Given the description of an element on the screen output the (x, y) to click on. 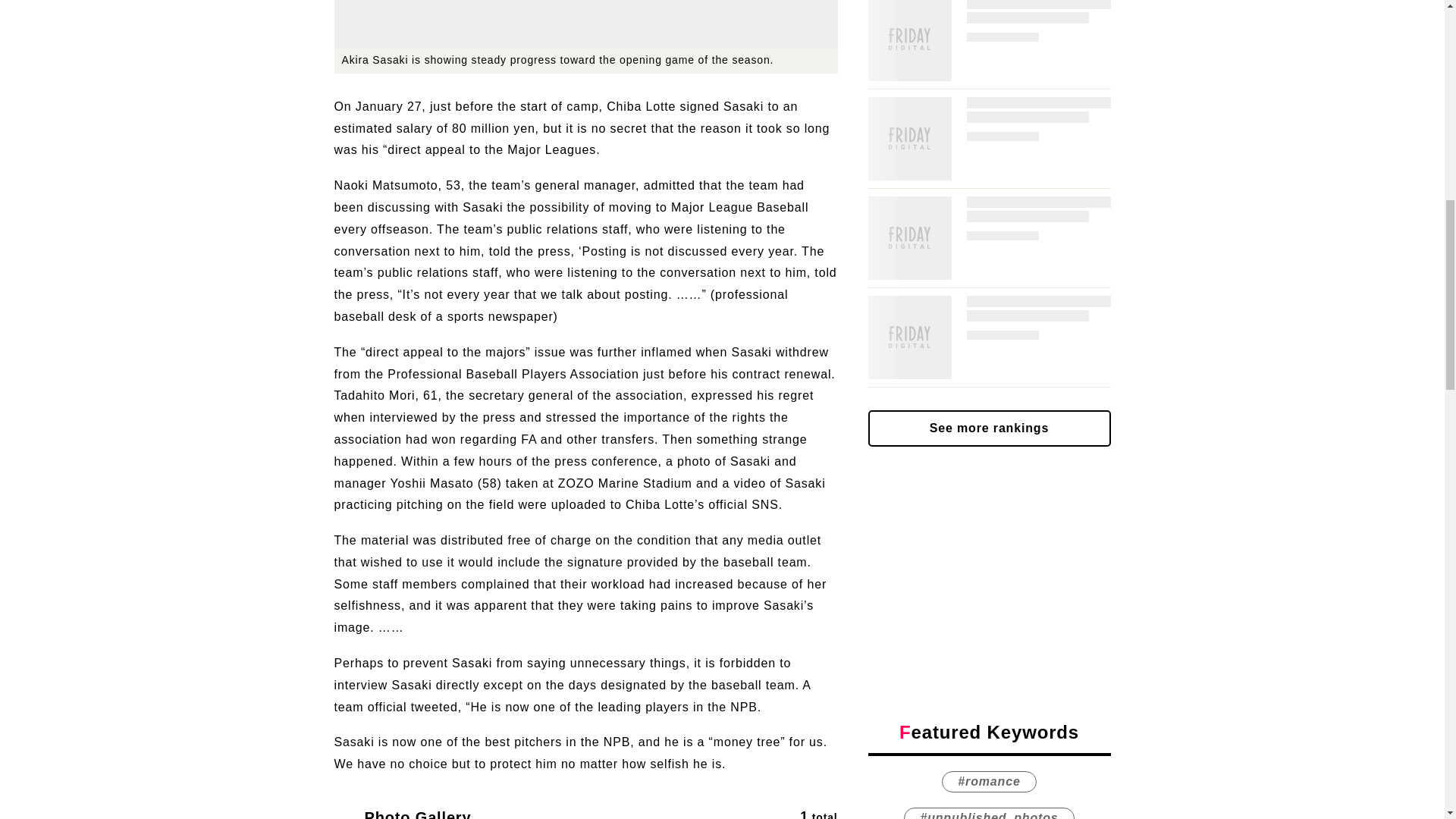
See more rankings (988, 266)
